Given the description of an element on the screen output the (x, y) to click on. 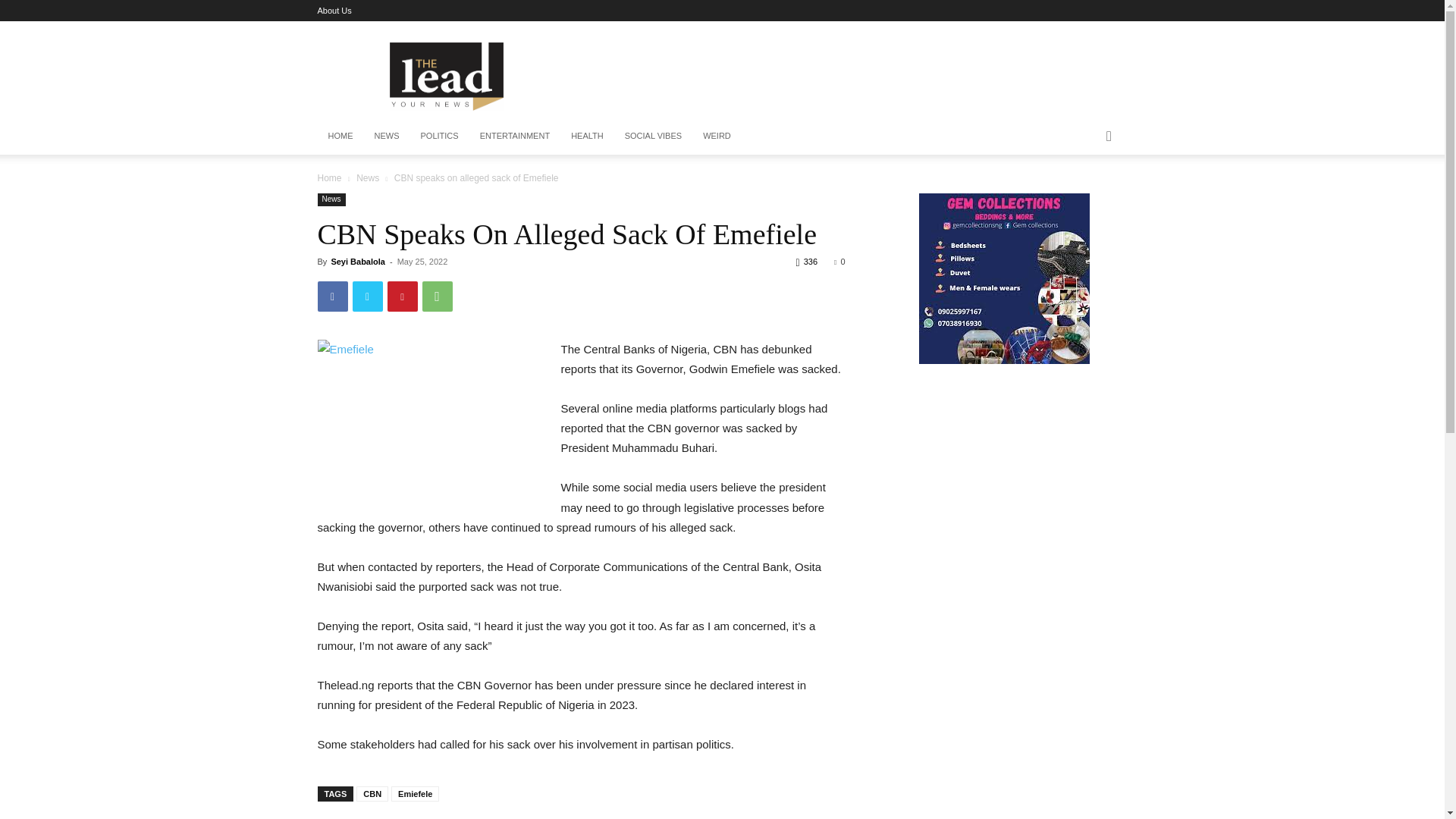
About Us (333, 10)
HEALTH (587, 135)
WhatsApp (436, 296)
Seyi Babalola (357, 261)
Search (1085, 197)
Facebook (332, 296)
HOME (339, 135)
CBN (372, 793)
ENTERTAINMENT (514, 135)
SOCIAL VIBES (653, 135)
News (367, 177)
WEIRD (717, 135)
NEWS (387, 135)
News (331, 199)
View all posts in News (367, 177)
